Given the description of an element on the screen output the (x, y) to click on. 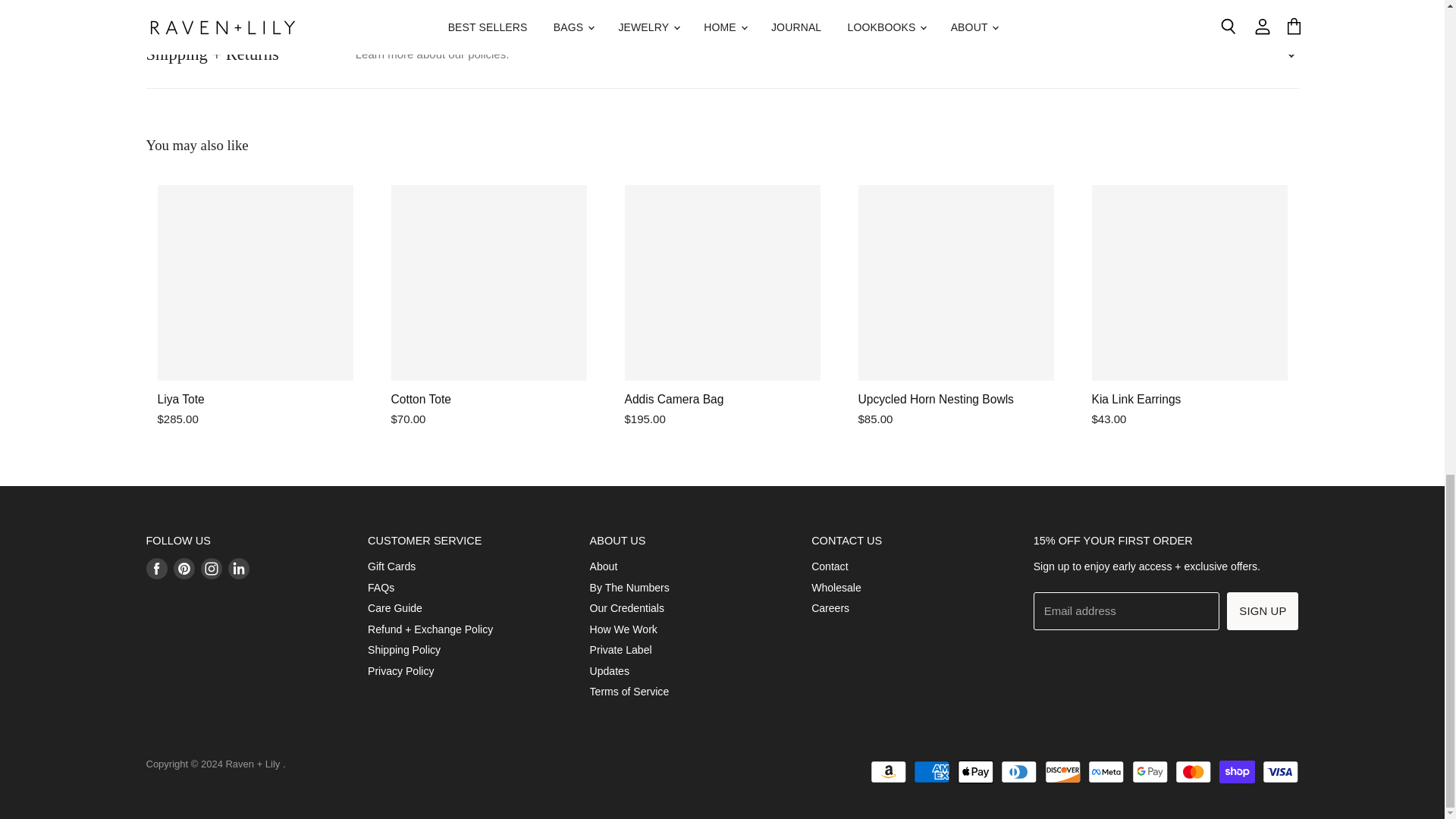
Pinterest (183, 568)
Instagram (210, 568)
LinkedIn (237, 568)
Facebook (156, 568)
